Given the description of an element on the screen output the (x, y) to click on. 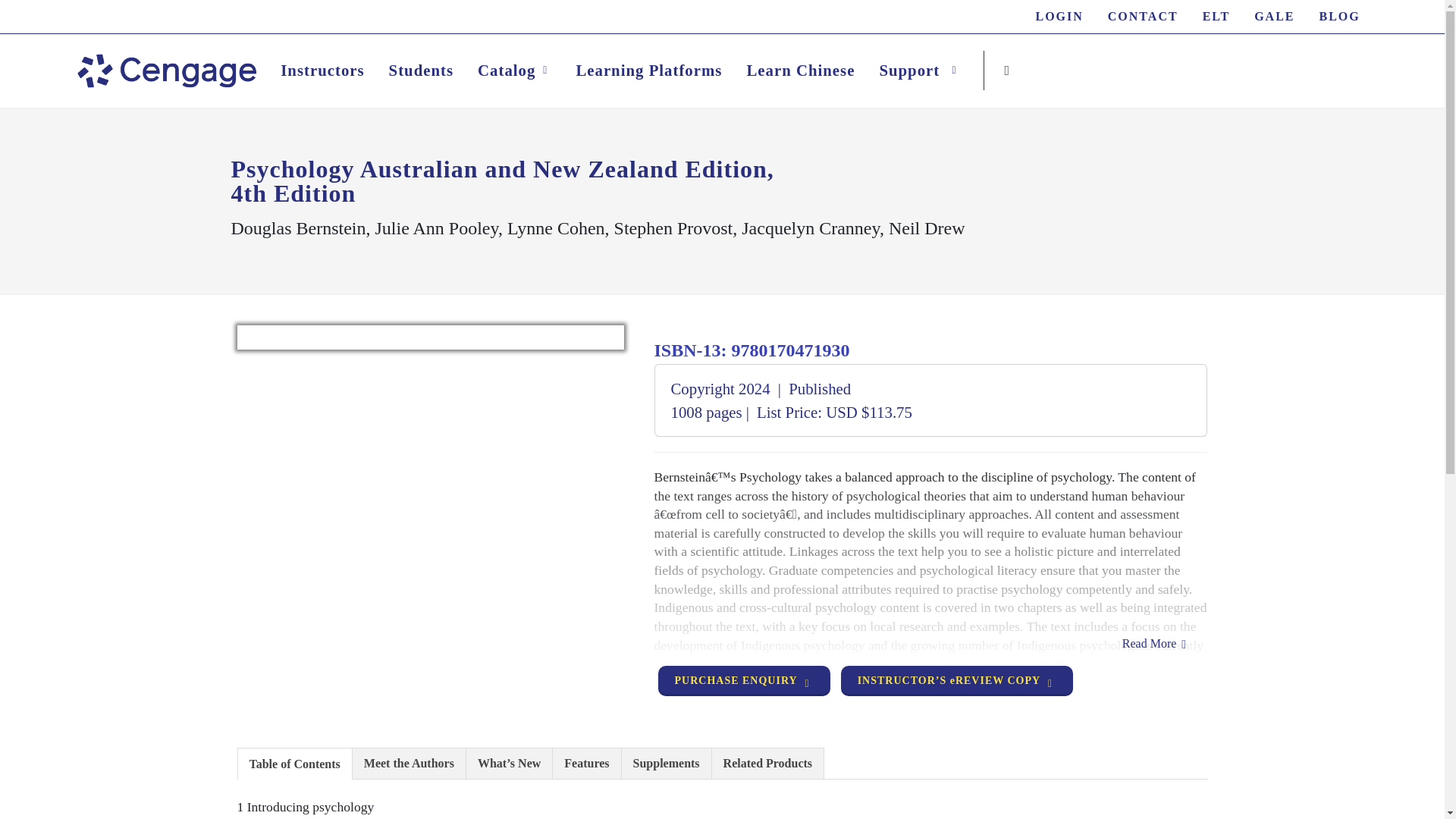
CONTACT (1143, 16)
ELT (1216, 16)
GALE (1273, 16)
Instructors (322, 70)
Students (420, 70)
BLOG (1340, 16)
Catalog (513, 70)
LOGIN (1059, 16)
